Given the description of an element on the screen output the (x, y) to click on. 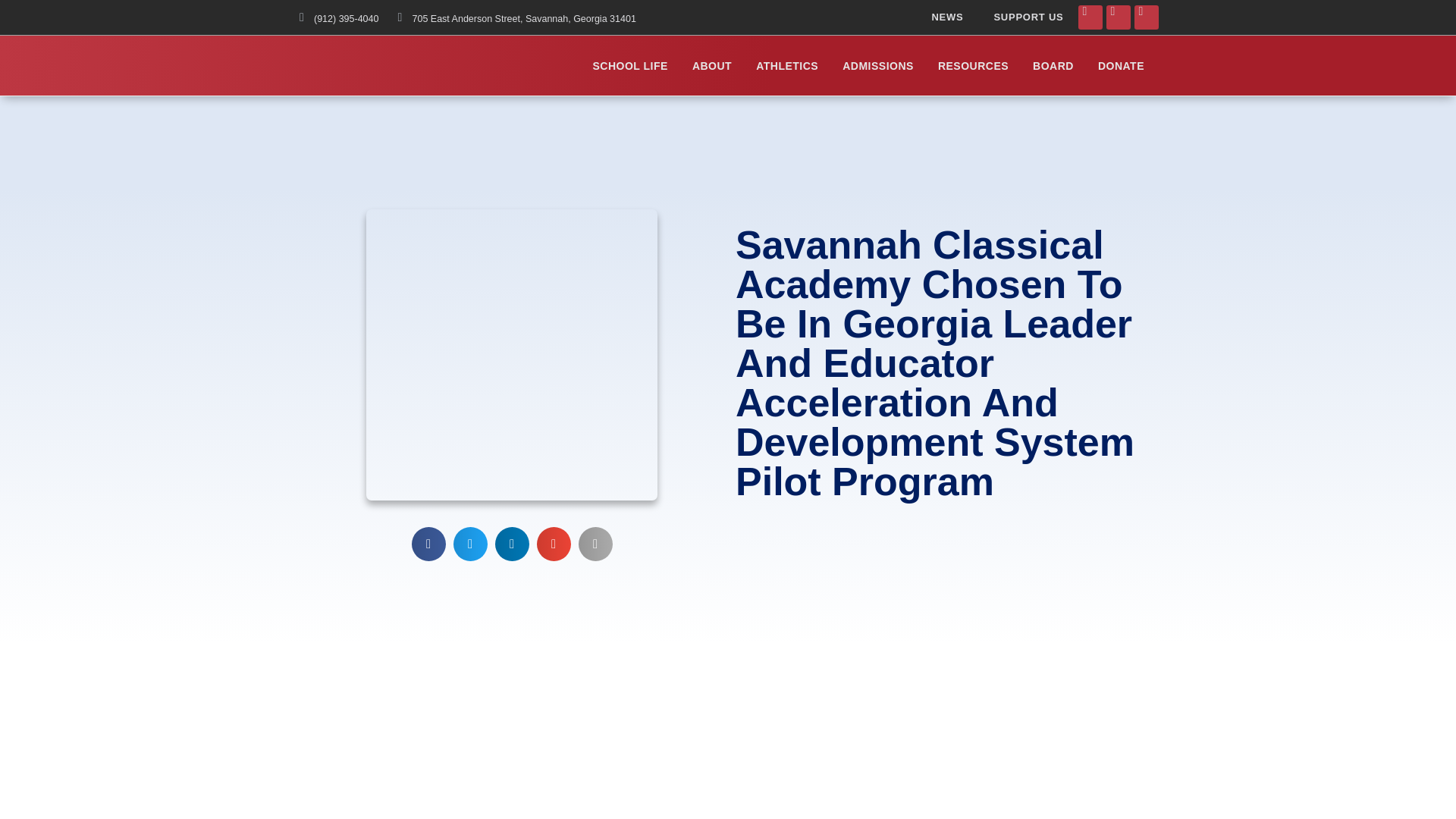
ATHLETICS (786, 65)
SCHOOL LIFE (629, 65)
RESOURCES (973, 65)
ABOUT (711, 65)
SUPPORT US (1028, 17)
NEWS (946, 17)
ADMISSIONS (877, 65)
